Given the description of an element on the screen output the (x, y) to click on. 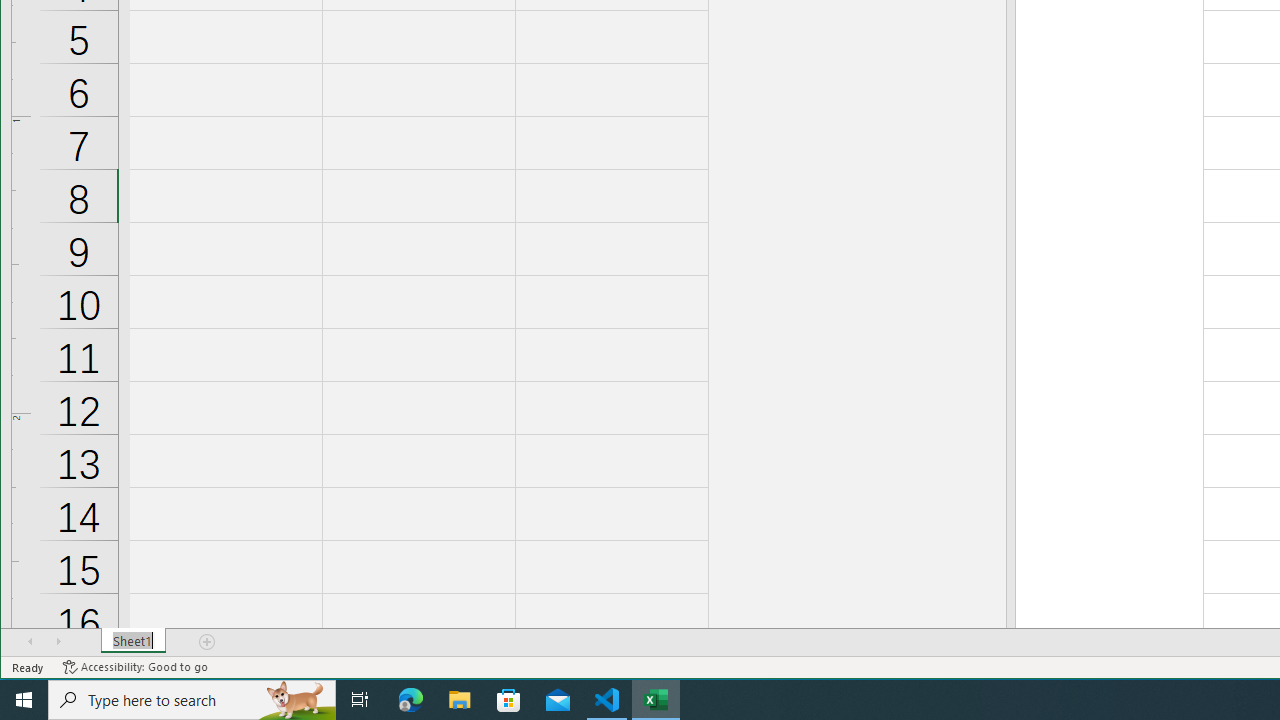
Excel - 1 running window (656, 699)
Type here to search (191, 699)
Task View (359, 699)
File Explorer (460, 699)
Microsoft Edge (411, 699)
Search highlights icon opens search home window (295, 699)
Start (24, 699)
Visual Studio Code - 1 running window (607, 699)
Sheet Tab (133, 641)
Microsoft Store (509, 699)
